Given the description of an element on the screen output the (x, y) to click on. 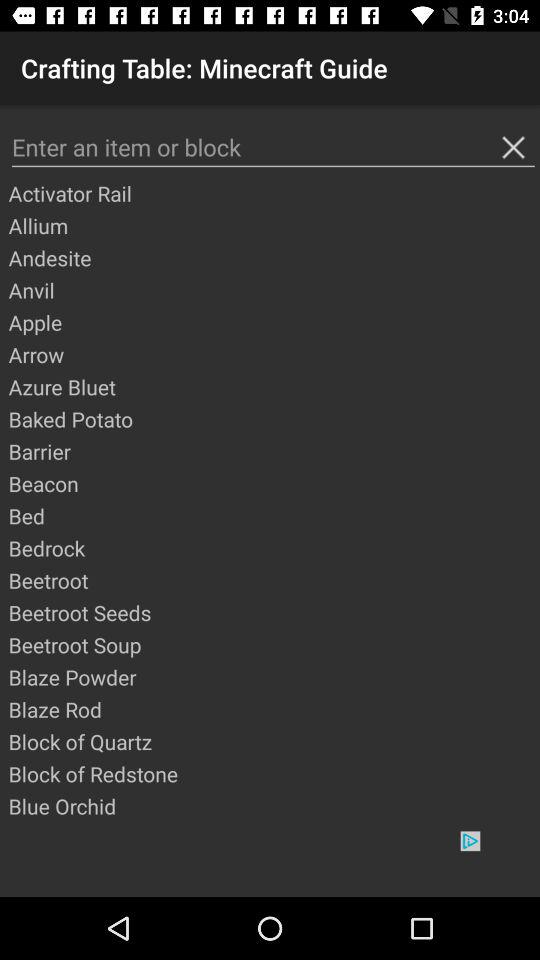
choose the beetroot seeds app (273, 612)
